Given the description of an element on the screen output the (x, y) to click on. 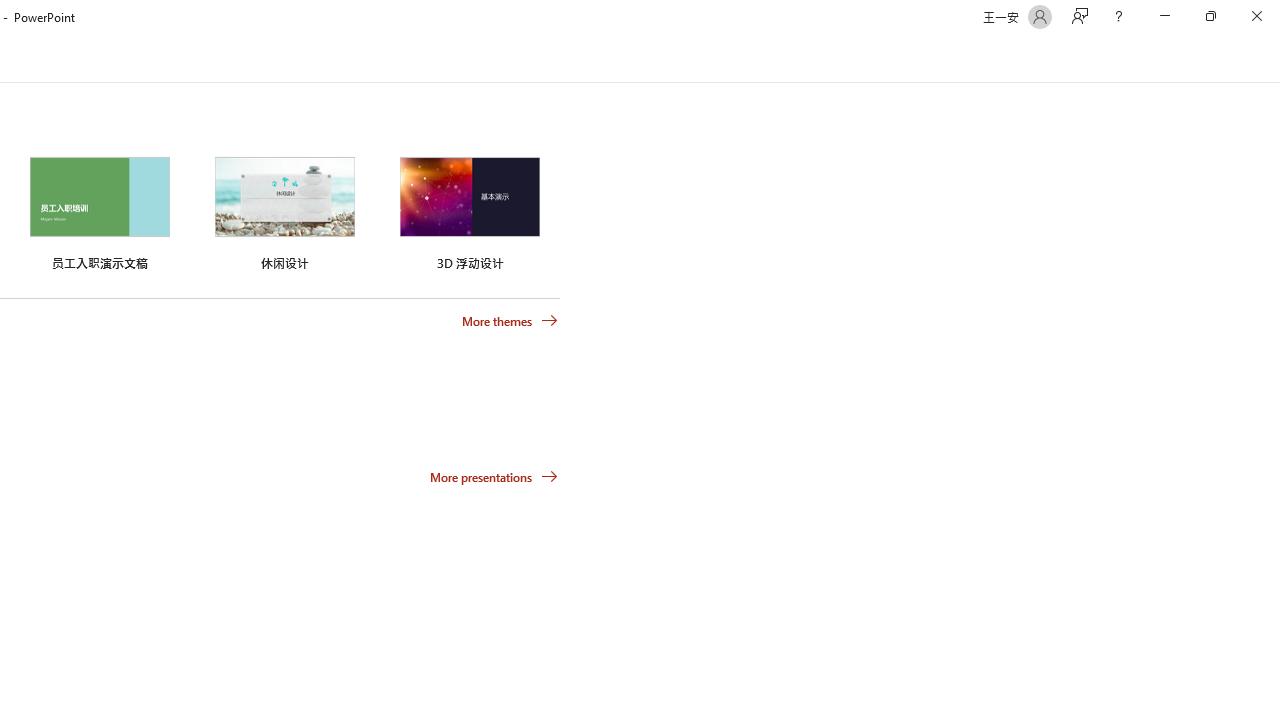
Class: NetUIScrollBar (1271, 59)
More presentations (493, 476)
More themes (509, 321)
